Given the description of an element on the screen output the (x, y) to click on. 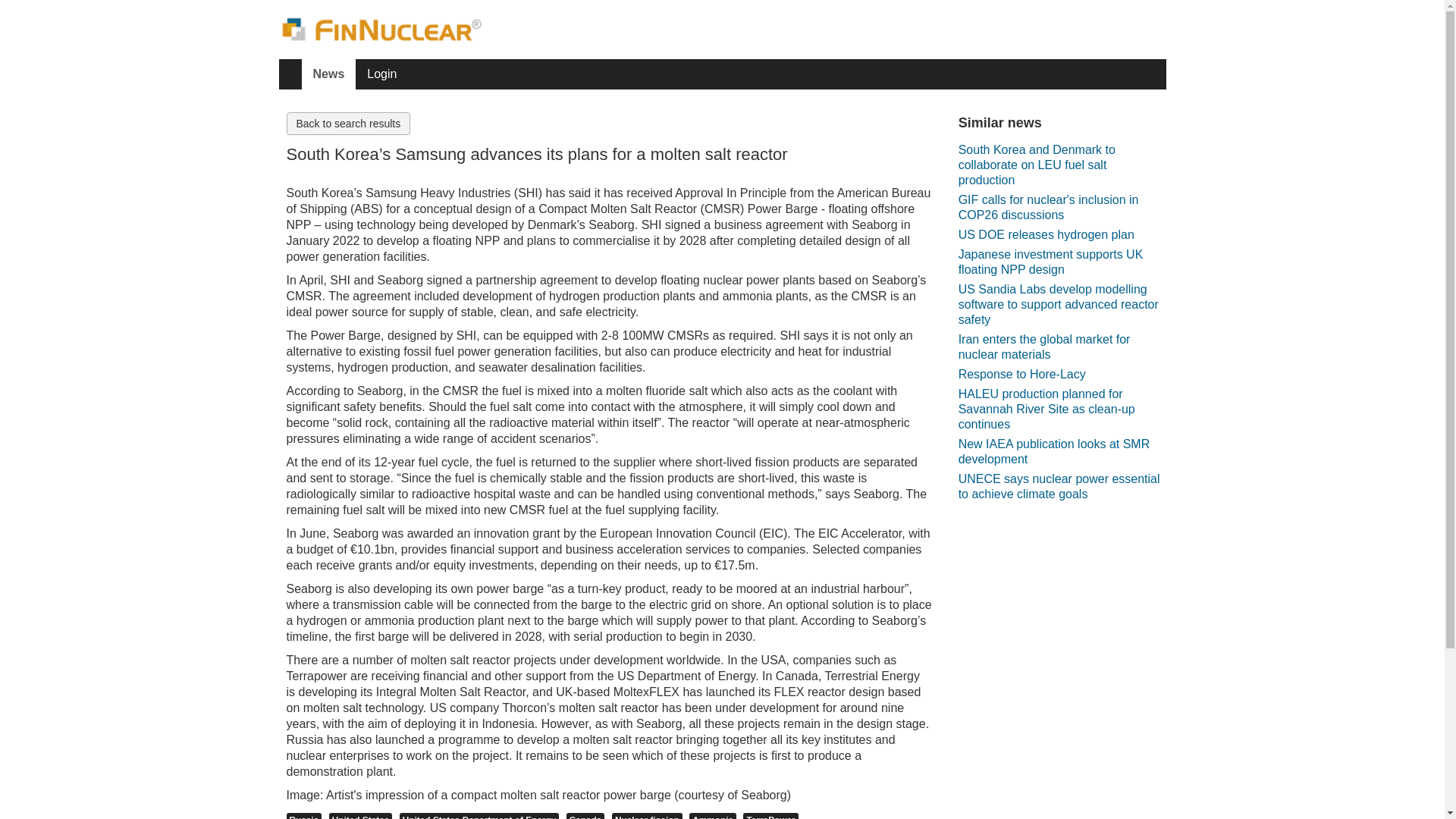
New IAEA publication looks at SMR development (1062, 451)
US DOE releases hydrogen plan (1046, 234)
Ammonia (712, 816)
Russia (303, 816)
Japanese investment supports UK floating NPP design (1062, 262)
TerraPower (769, 816)
Login (381, 73)
United States (361, 816)
Canada (585, 816)
Nuclear fission (646, 816)
GIF calls for nuclear's inclusion in COP26 discussions (1062, 207)
Iran enters the global market for nuclear materials (1062, 347)
United States Department of Energy (478, 816)
